Given the description of an element on the screen output the (x, y) to click on. 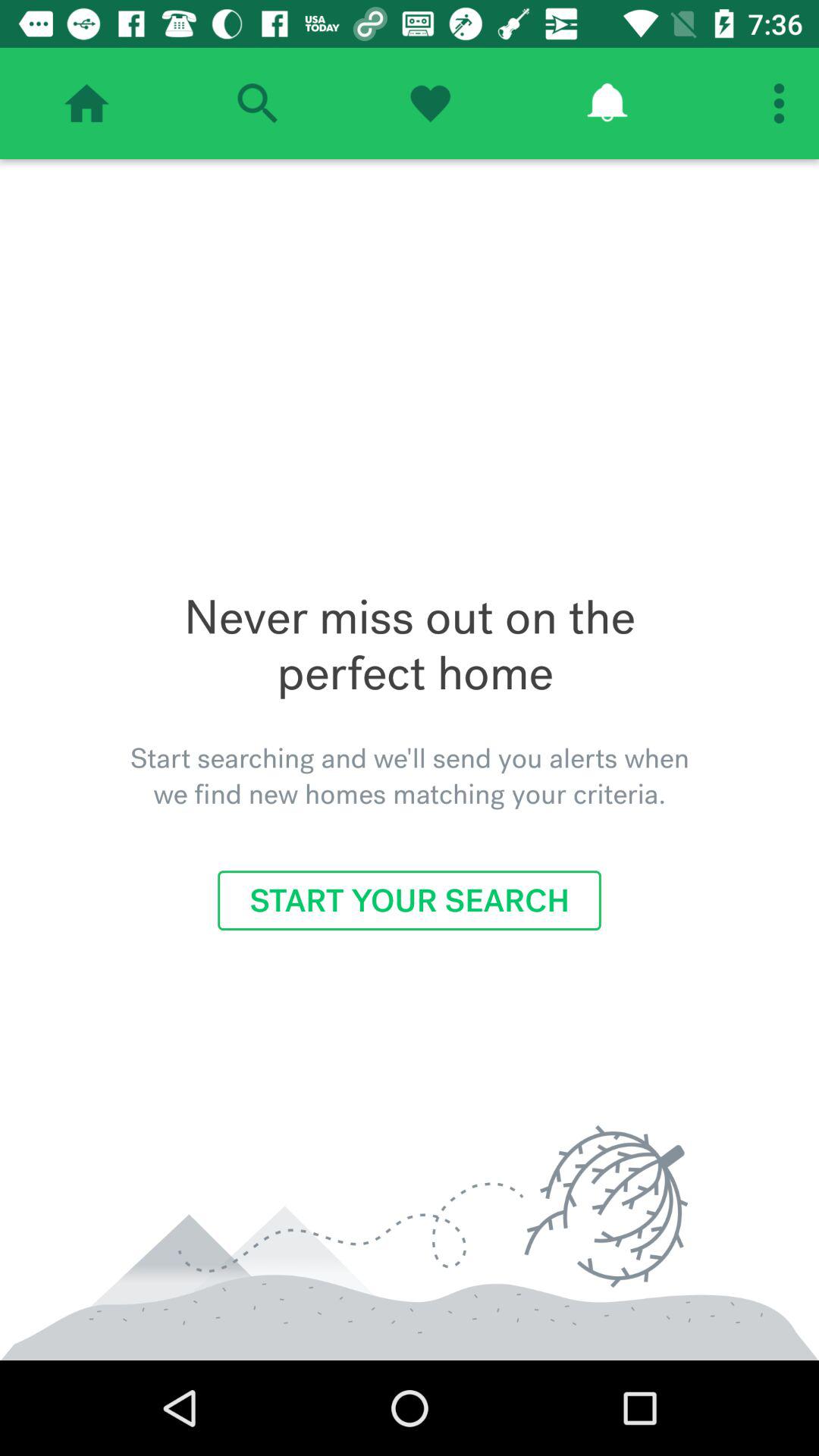
search option (257, 103)
